Given the description of an element on the screen output the (x, y) to click on. 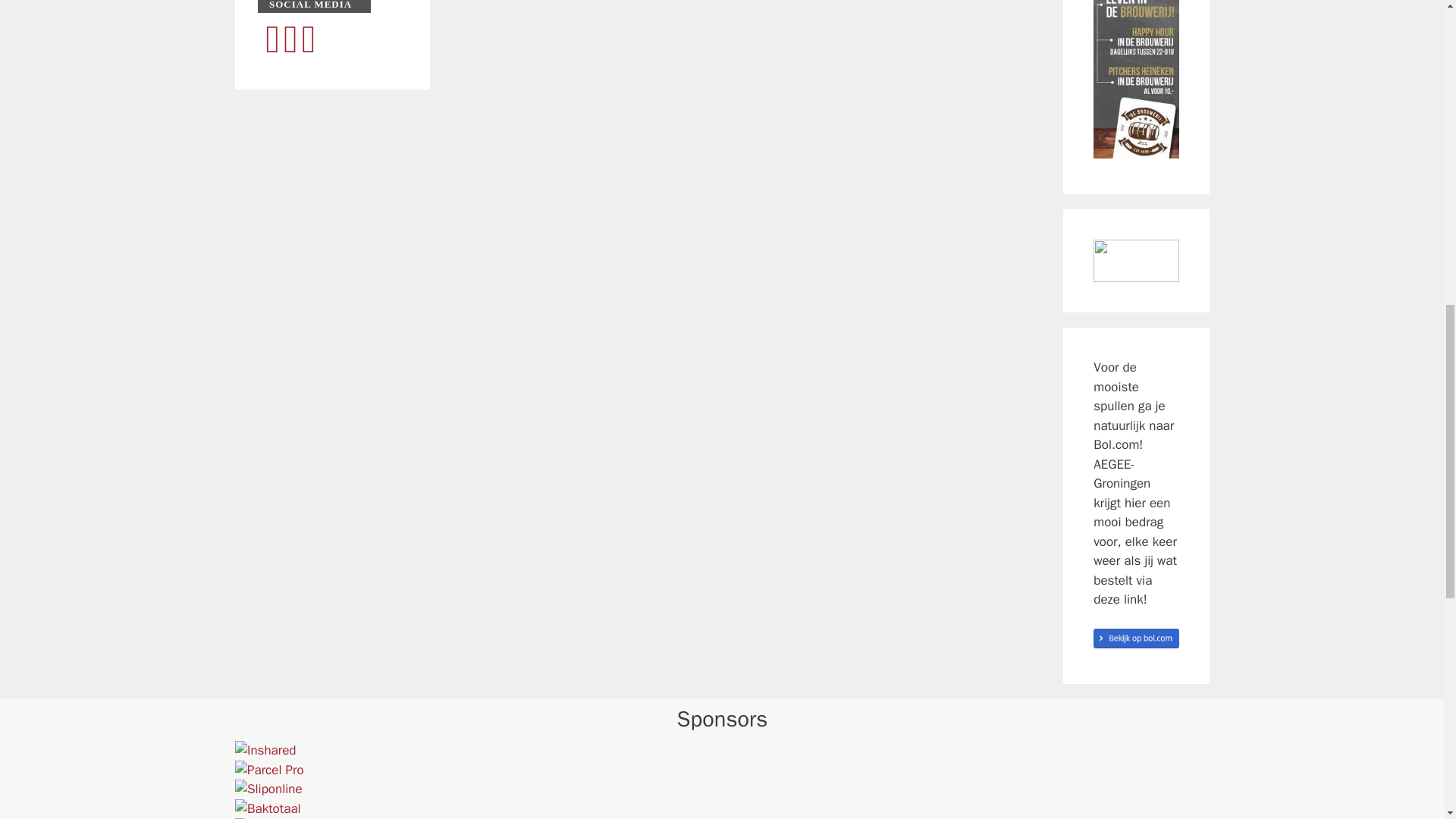
Parcel Pro (269, 770)
Sliponline (265, 750)
Bekijk op bol.com (268, 788)
